Given the description of an element on the screen output the (x, y) to click on. 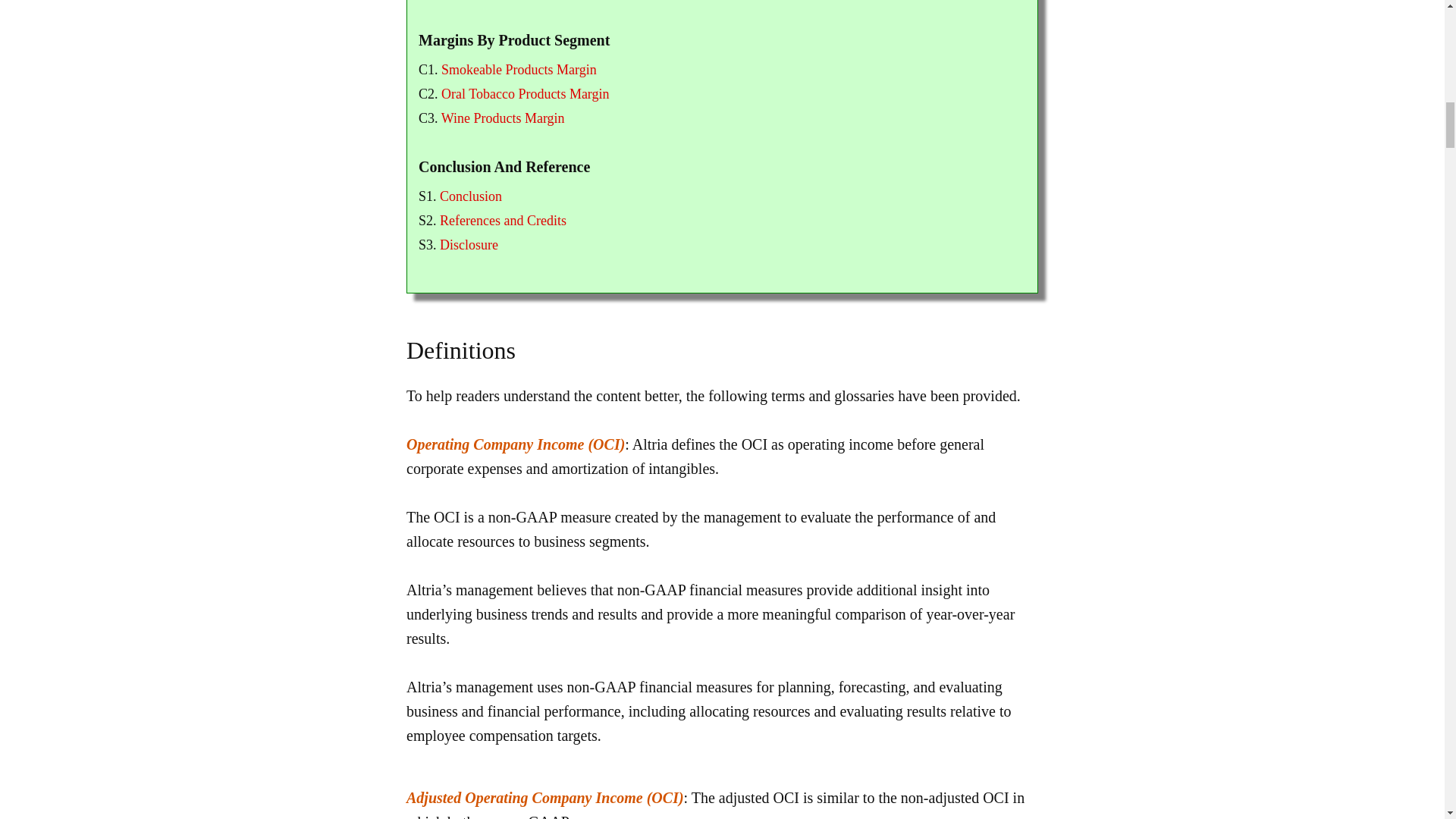
Wine Products Margin (502, 118)
Conclusion (470, 196)
Oral Tobacco Products Margin (525, 93)
References and Credits (502, 220)
Smokeable Products Margin (518, 69)
Disclosure (468, 244)
